Given the description of an element on the screen output the (x, y) to click on. 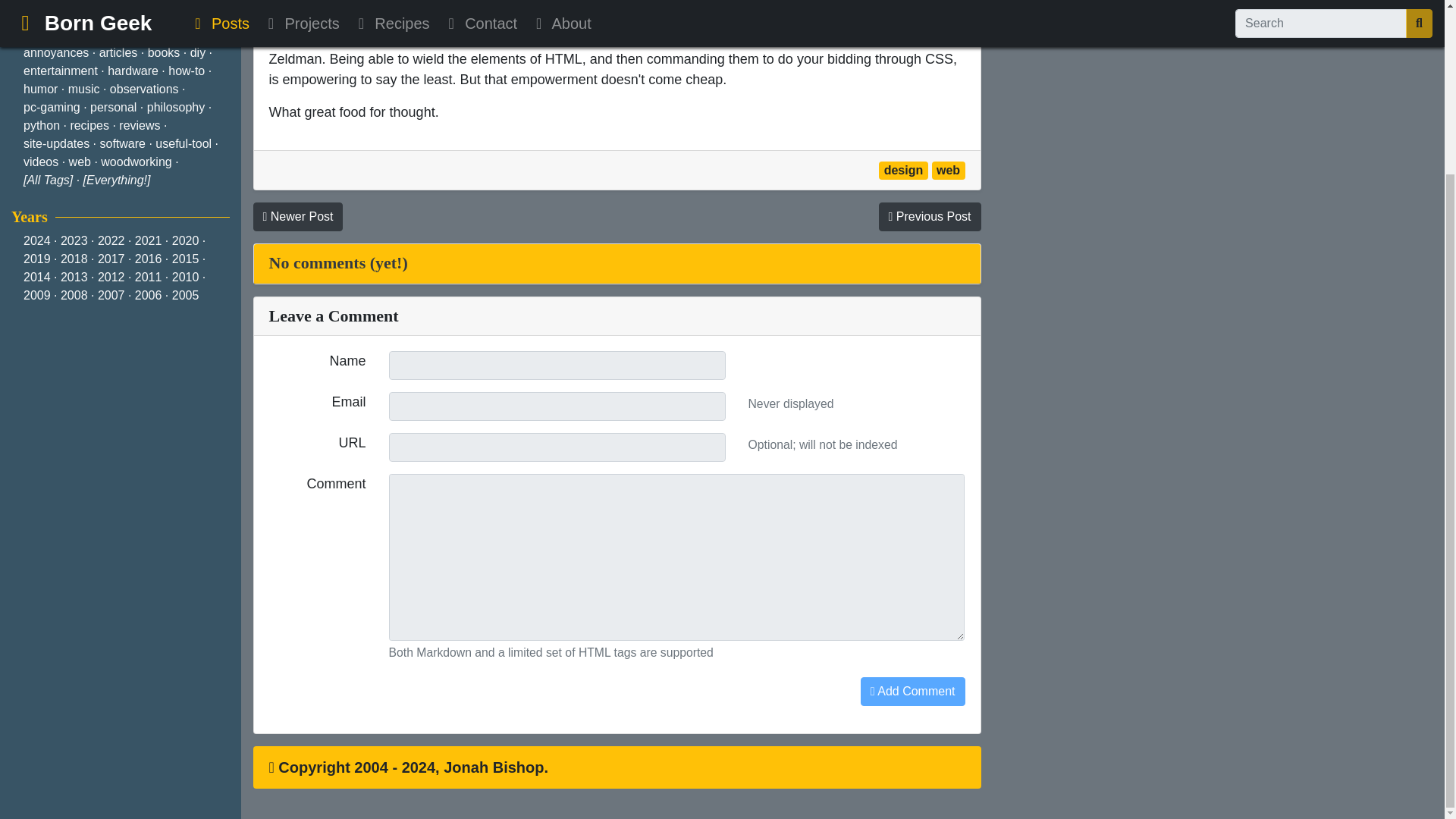
Add Comment (912, 691)
python (41, 124)
how-to (186, 70)
observations (144, 88)
articles (118, 51)
Newer Post (298, 216)
site-updates (55, 143)
design (903, 170)
Previous Post (928, 216)
hardware (132, 70)
entertainment (60, 70)
books (164, 51)
personal (113, 106)
humor (40, 88)
philosophy (176, 106)
